Given the description of an element on the screen output the (x, y) to click on. 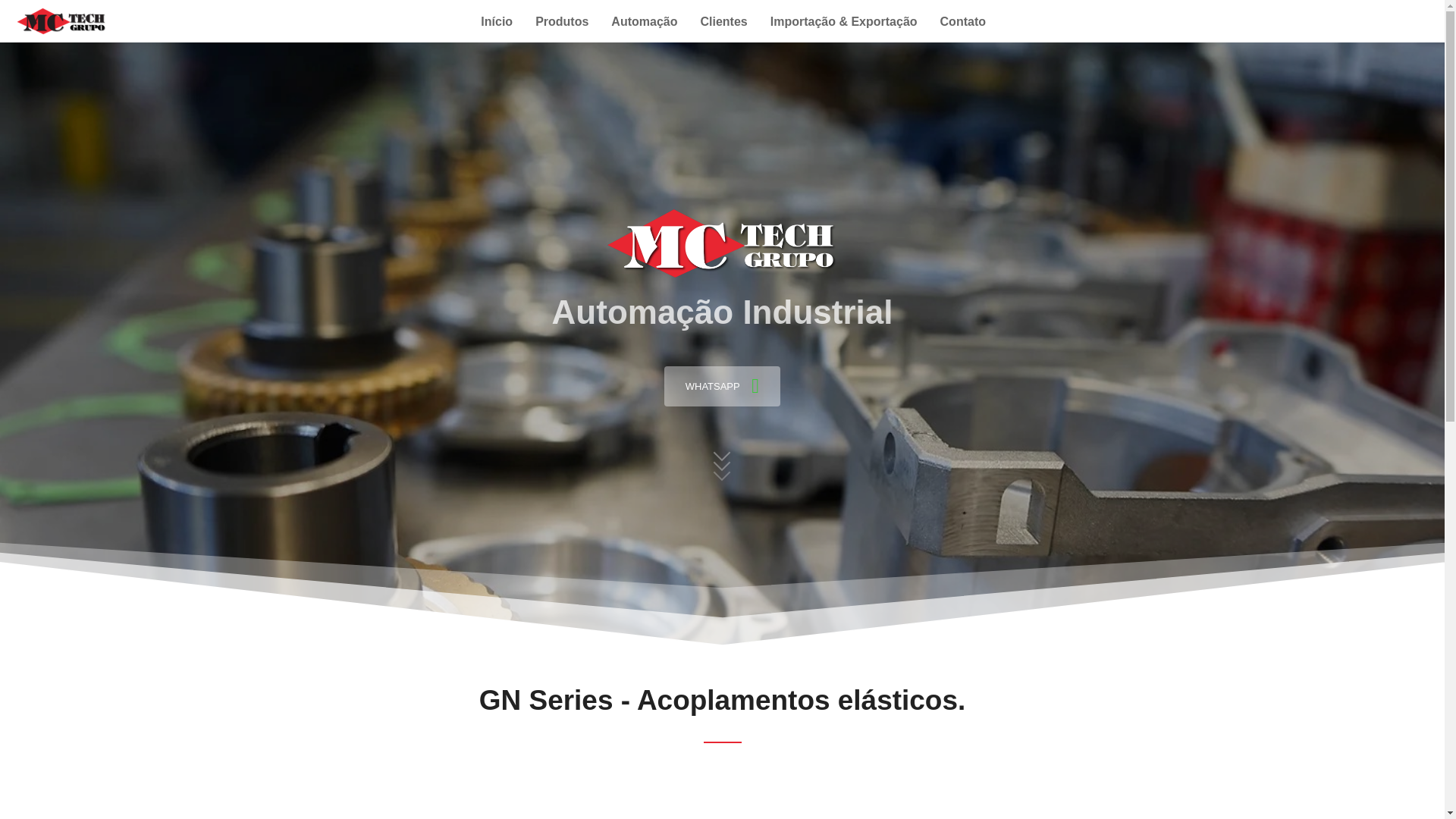
Produtos (561, 21)
WHATSAPP (721, 386)
Contato (962, 21)
Clientes (723, 21)
